Given the description of an element on the screen output the (x, y) to click on. 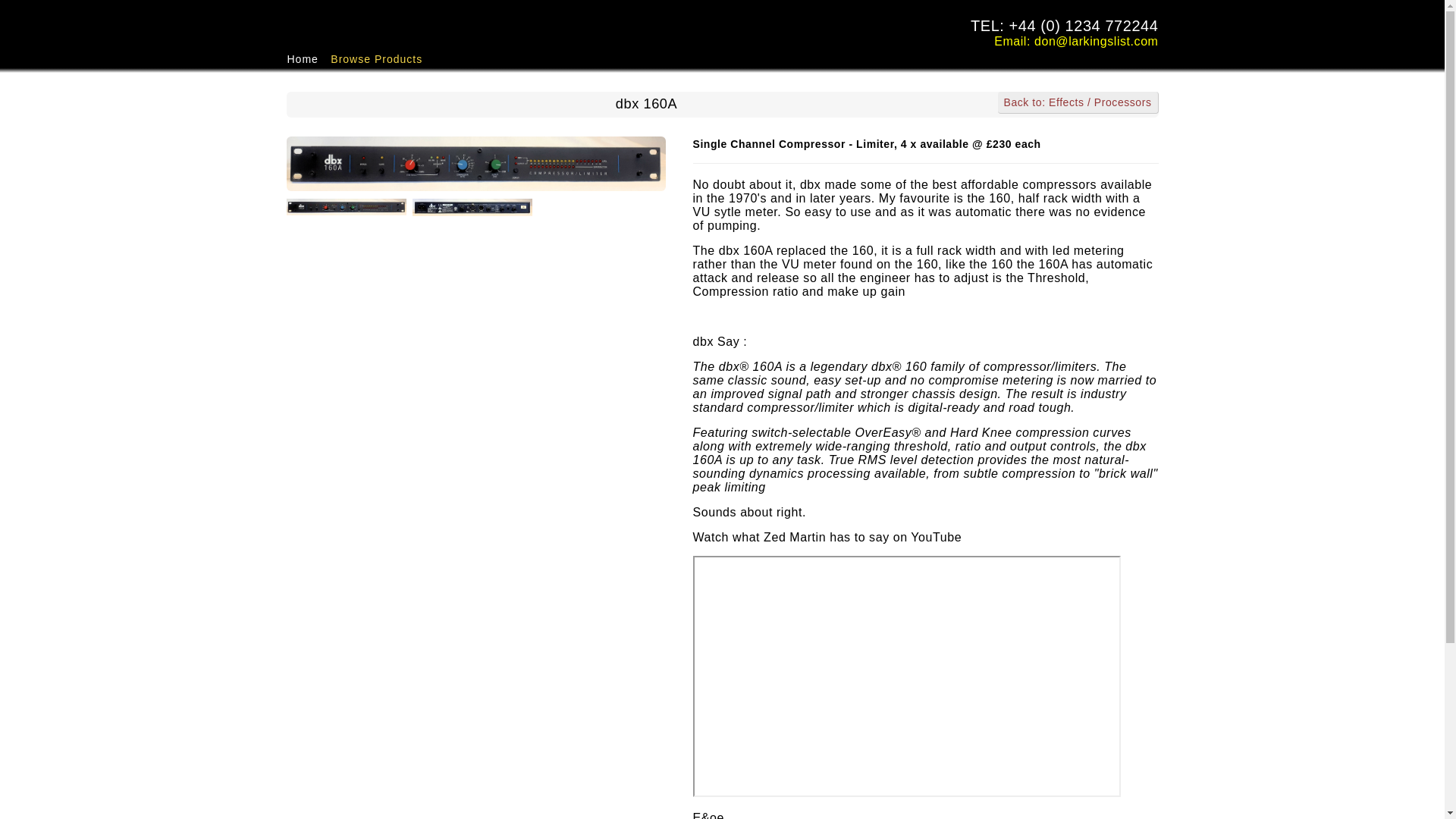
Home (302, 58)
Browse Products (376, 58)
Sales Enquiries (1083, 41)
